Given the description of an element on the screen output the (x, y) to click on. 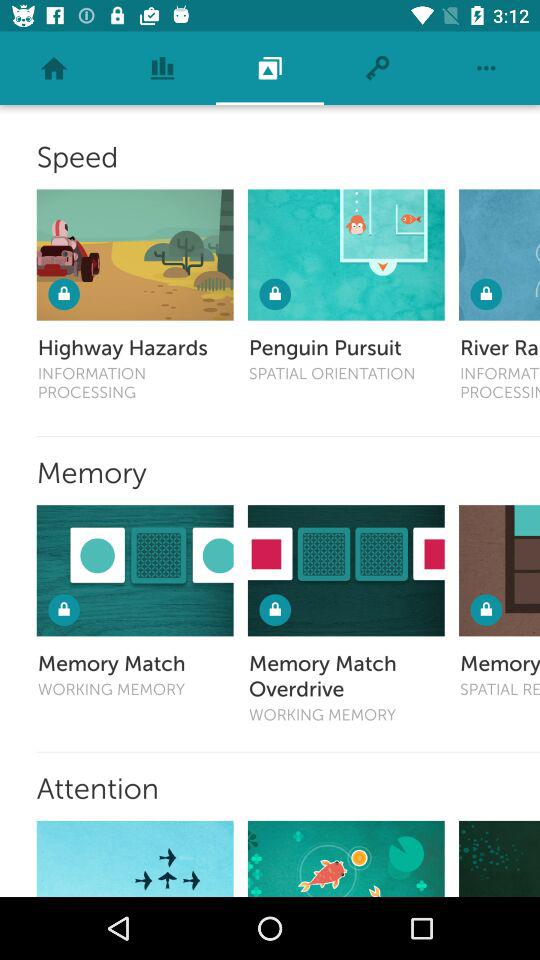
go to unknown game (499, 858)
